Given the description of an element on the screen output the (x, y) to click on. 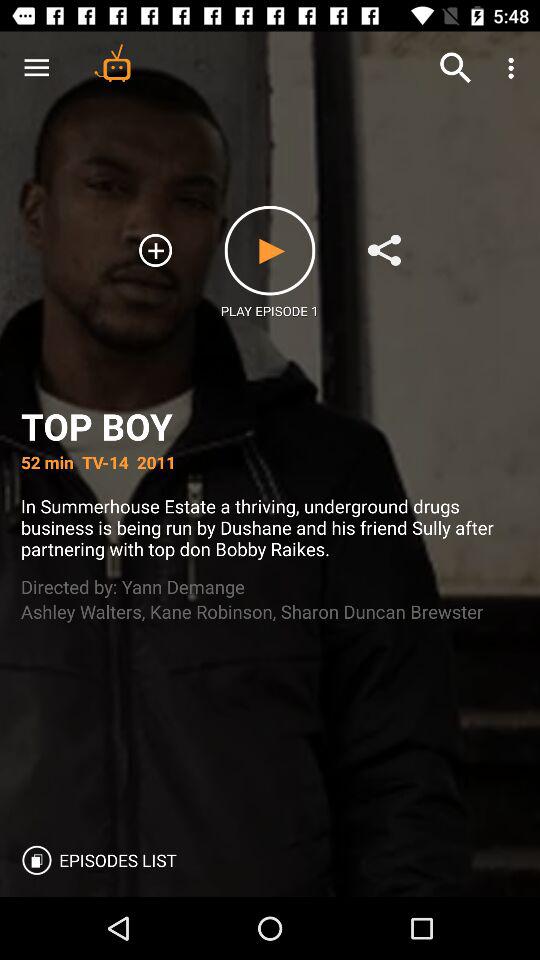
turn off the item above top boy (513, 67)
